Given the description of an element on the screen output the (x, y) to click on. 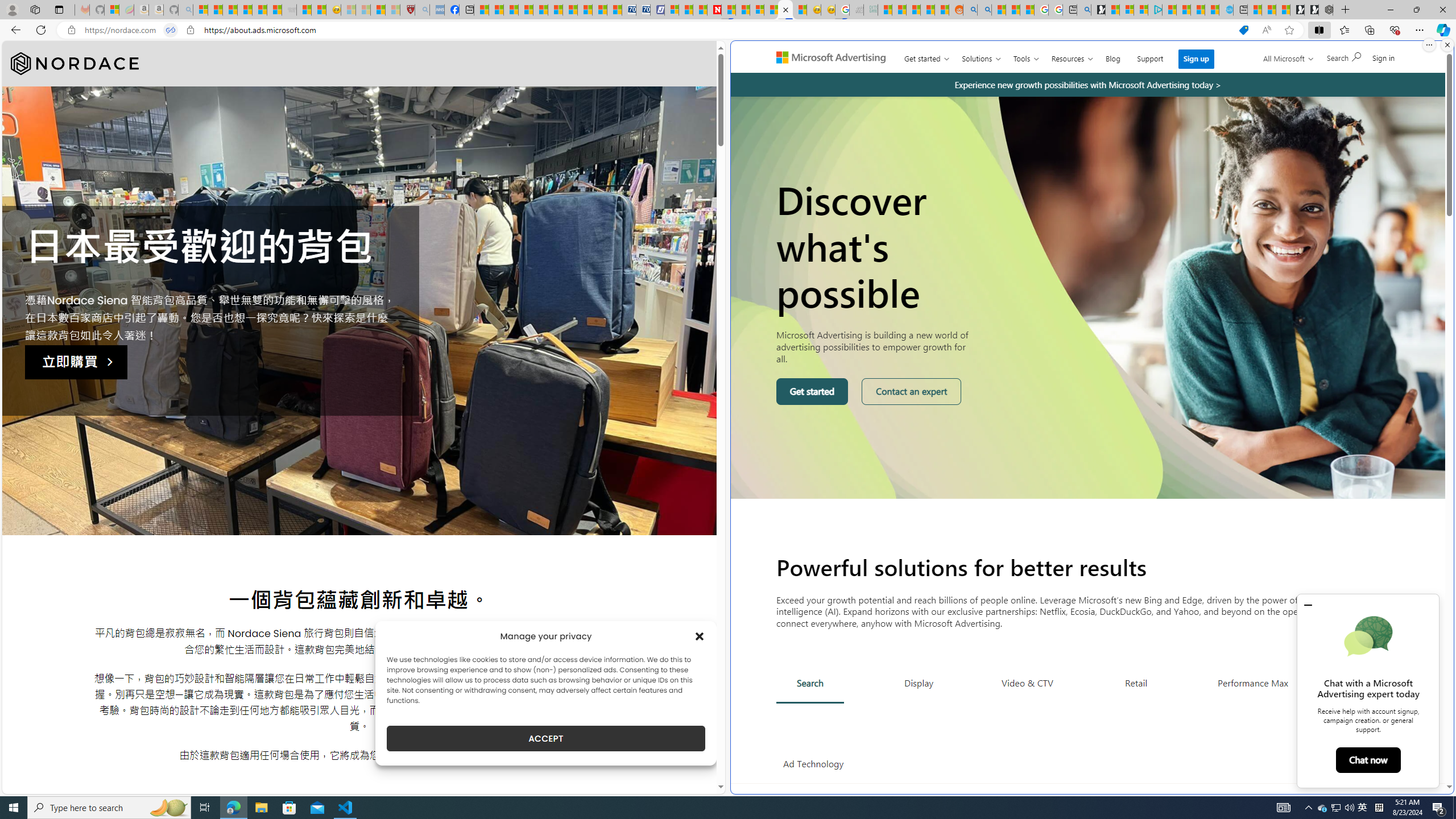
Combat Siege - Sleeping (288, 9)
Sign in (1383, 57)
The Weather Channel - MSN (229, 9)
Microsoft Start Gaming (1097, 9)
Microsoft Advertising (835, 56)
Collections (1369, 29)
Cheap Hotels - Save70.com (643, 9)
Recipes - MSN - Sleeping (348, 9)
Search (810, 683)
Sign up (1195, 58)
